Given the description of an element on the screen output the (x, y) to click on. 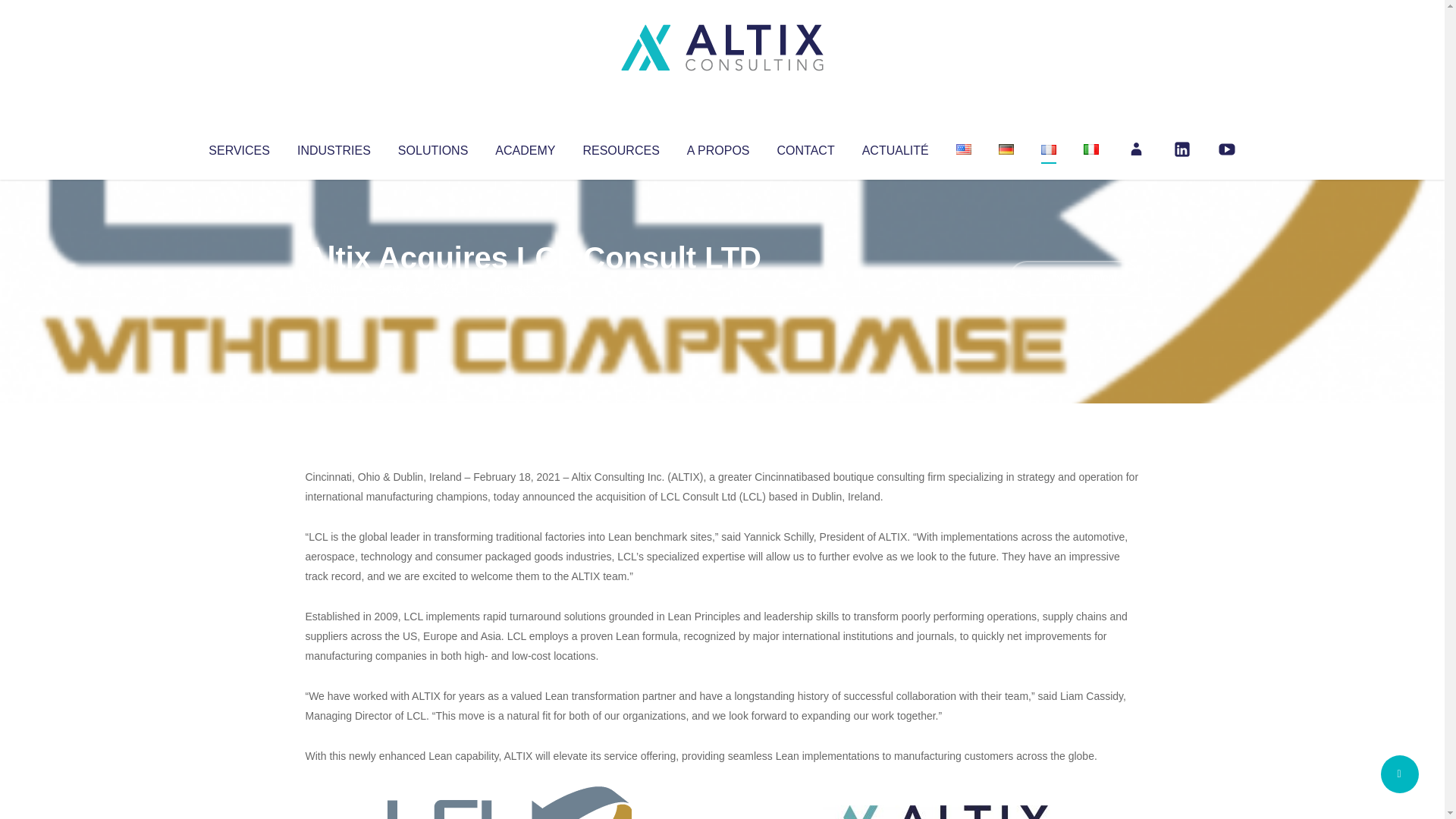
INDUSTRIES (334, 146)
SERVICES (238, 146)
A PROPOS (718, 146)
Articles par Altix (333, 287)
Altix (333, 287)
ACADEMY (524, 146)
SOLUTIONS (432, 146)
Uncategorized (530, 287)
RESOURCES (620, 146)
No Comments (1073, 278)
